Given the description of an element on the screen output the (x, y) to click on. 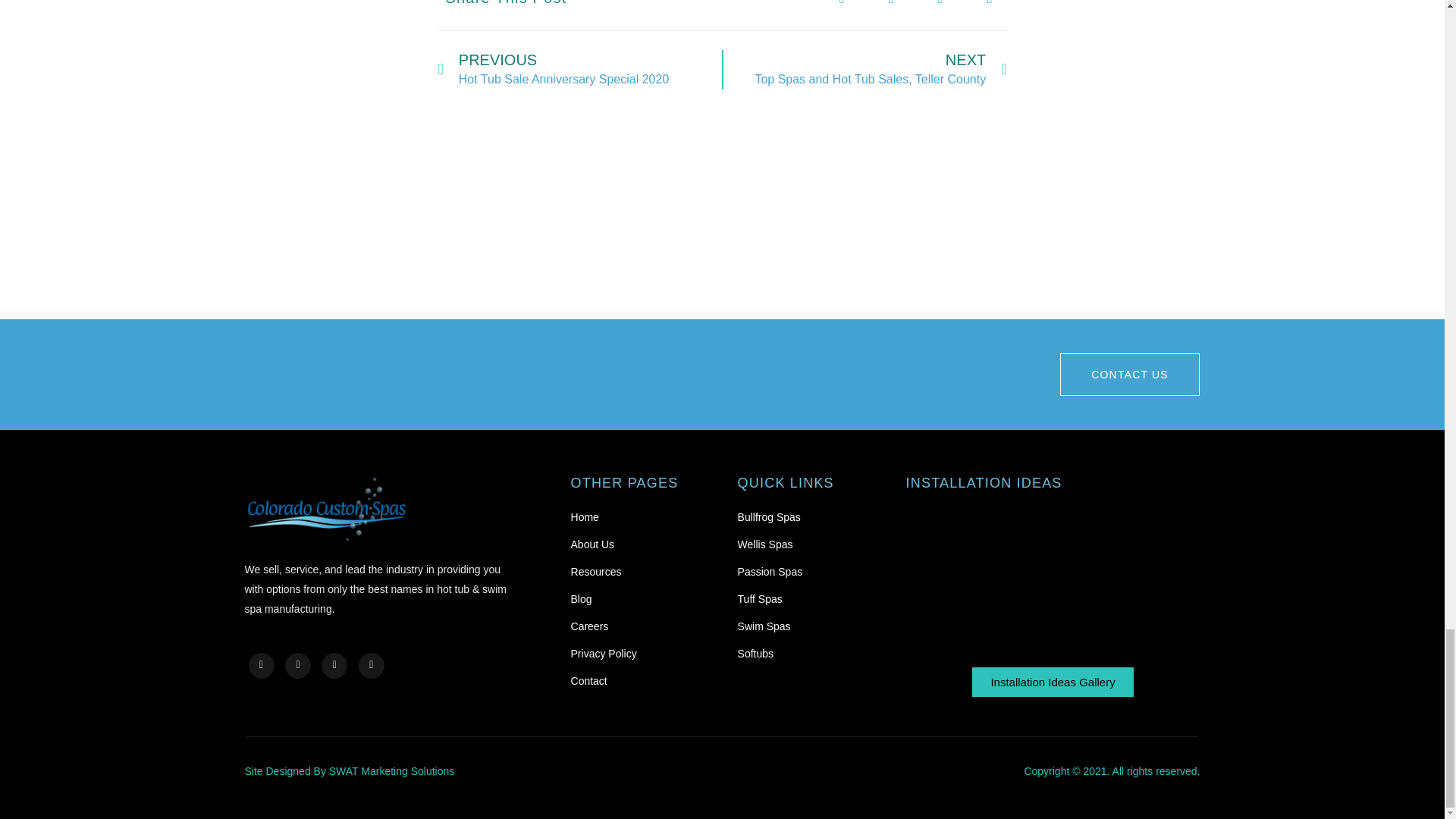
Bullfrog (363, 232)
Wellis (611, 227)
Softub (855, 223)
Passion Spas (1103, 232)
